Given the description of an element on the screen output the (x, y) to click on. 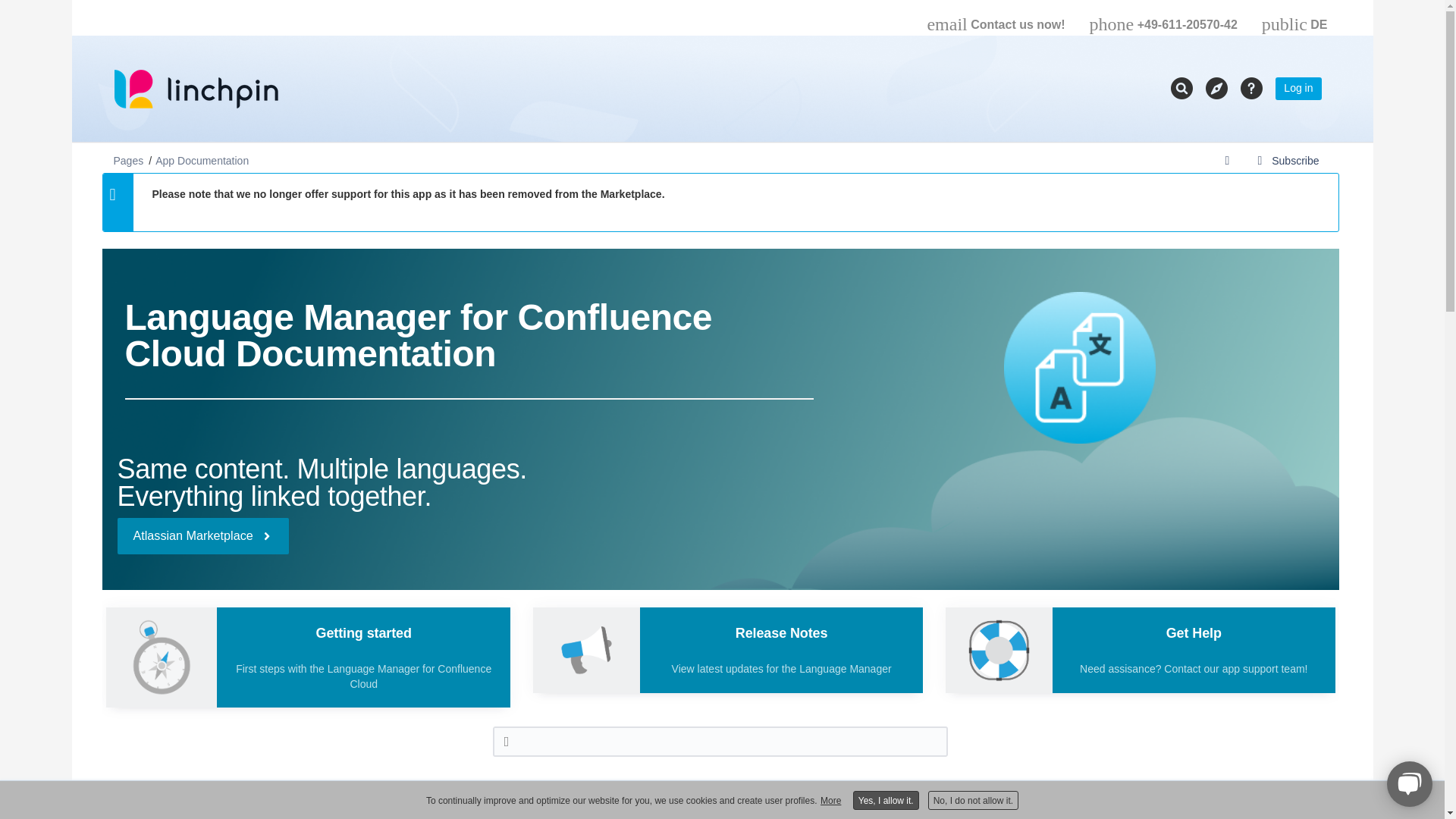
email Contact us now! (995, 18)
Help (1251, 87)
Information hubs (1216, 87)
Help (1251, 87)
Log in (1297, 87)
public DE (1294, 18)
